Given the description of an element on the screen output the (x, y) to click on. 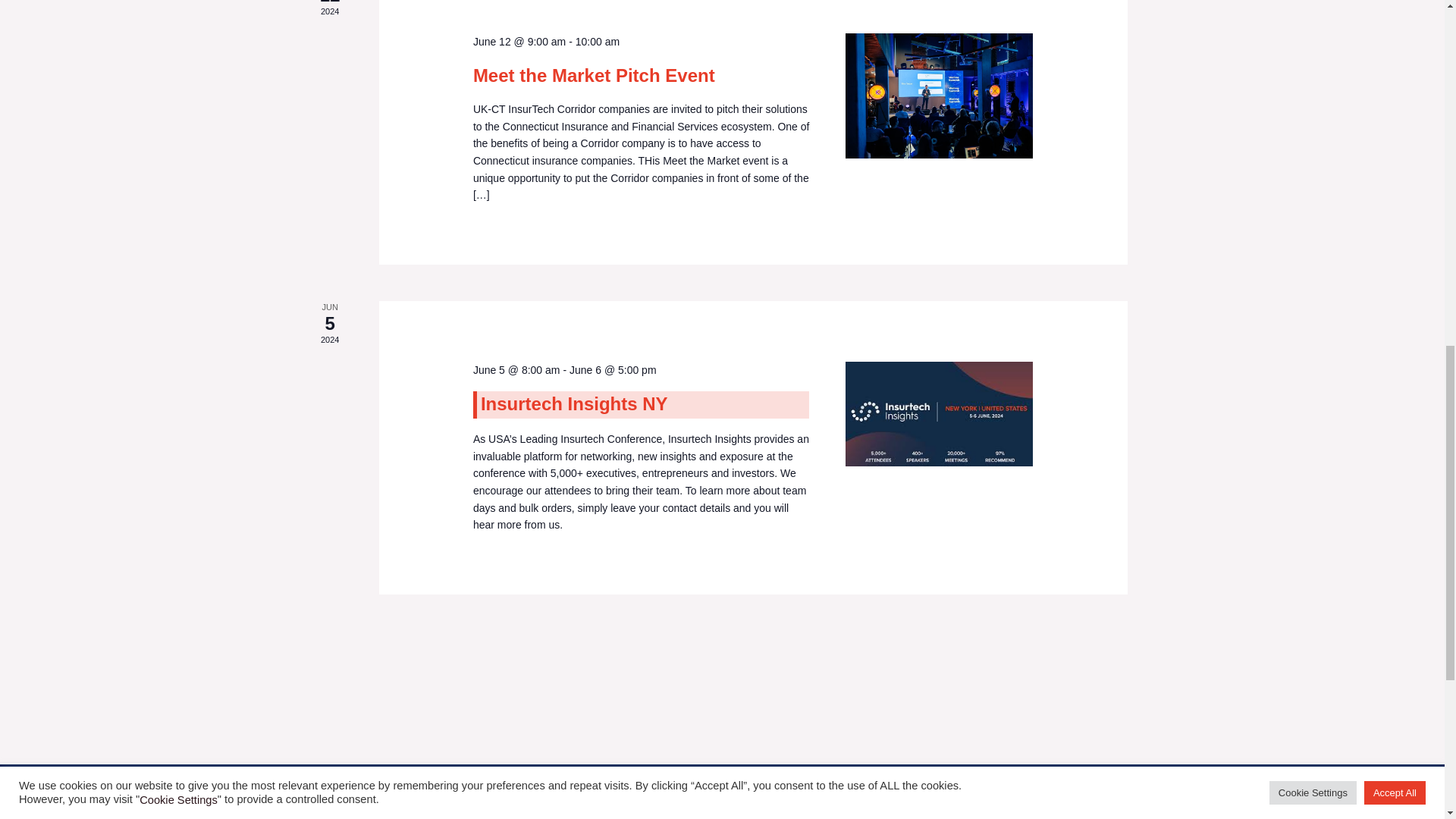
Meet the Market Pitch Event (593, 75)
Insurtech Insights NY (574, 403)
Insurtech Insights NY (938, 413)
Meet the Market Pitch Event (938, 95)
